Given the description of an element on the screen output the (x, y) to click on. 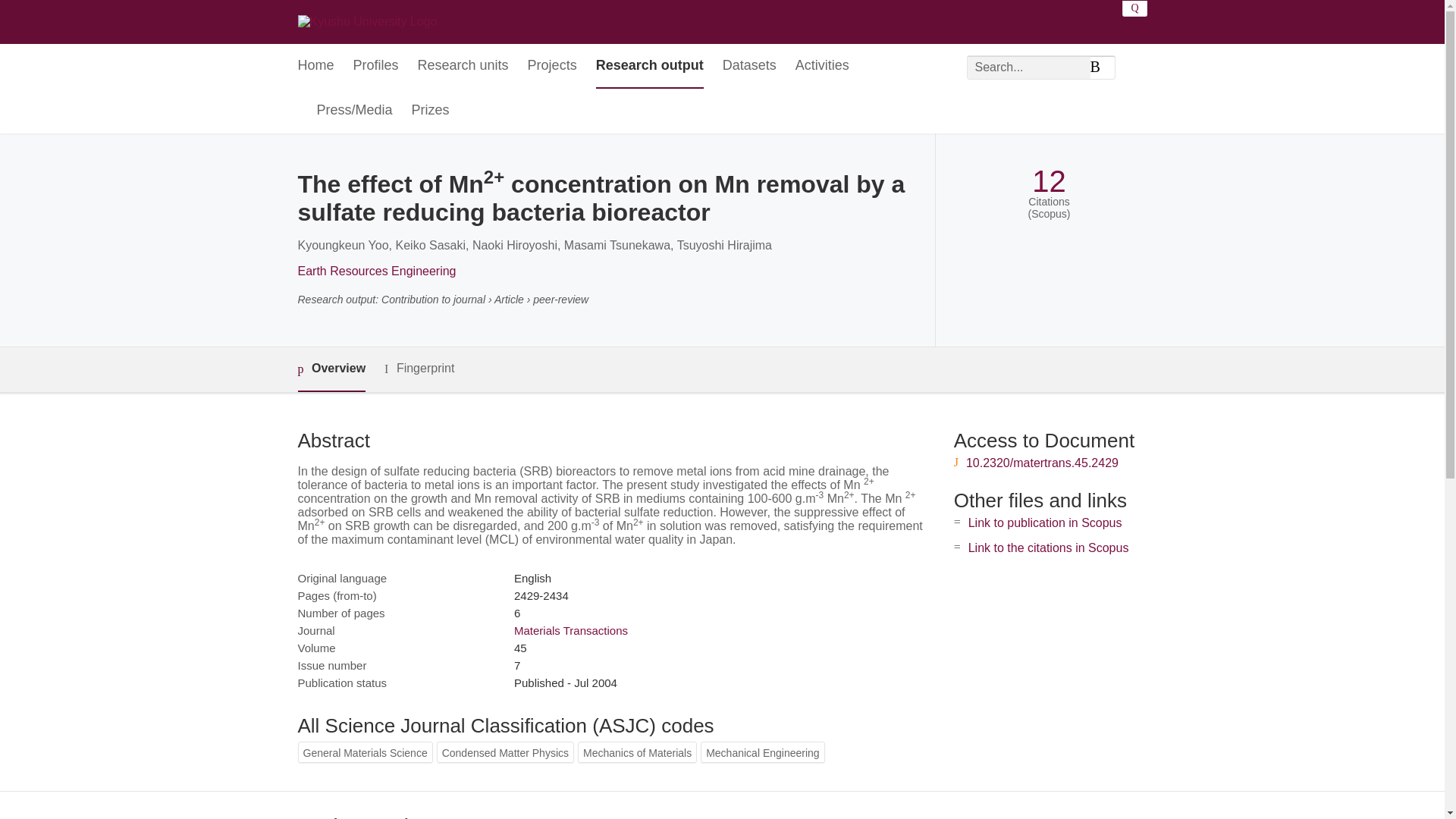
Projects (551, 66)
Kyushu University Home (366, 21)
12 (1048, 181)
Research output (649, 66)
Overview (331, 369)
Datasets (749, 66)
Profiles (375, 66)
Earth Resources Engineering (376, 270)
Materials Transactions (570, 630)
